Given the description of an element on the screen output the (x, y) to click on. 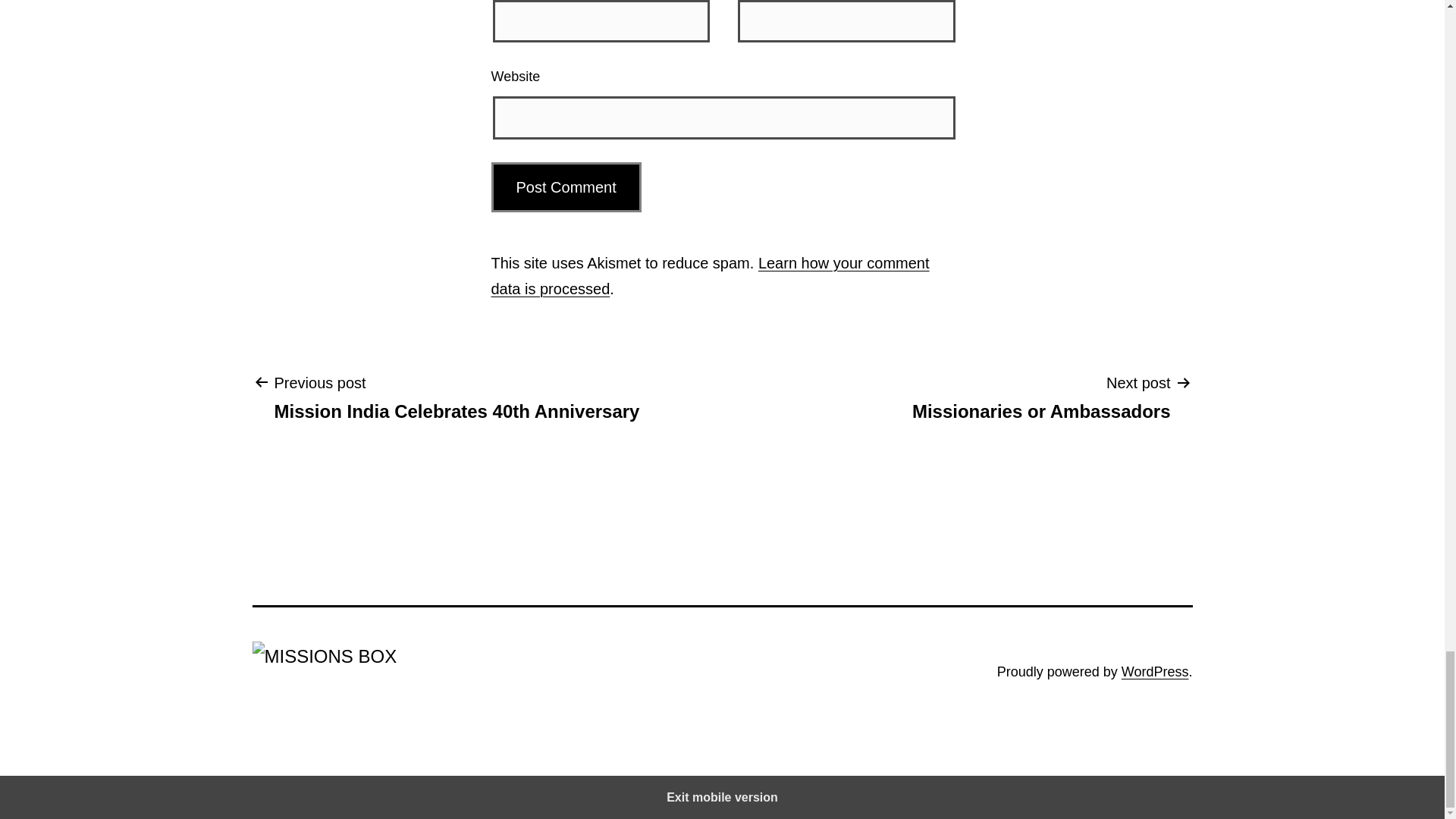
Post Comment (567, 187)
WordPress (456, 396)
Post Comment (1155, 671)
Learn how your comment data is processed (1040, 396)
